Given the description of an element on the screen output the (x, y) to click on. 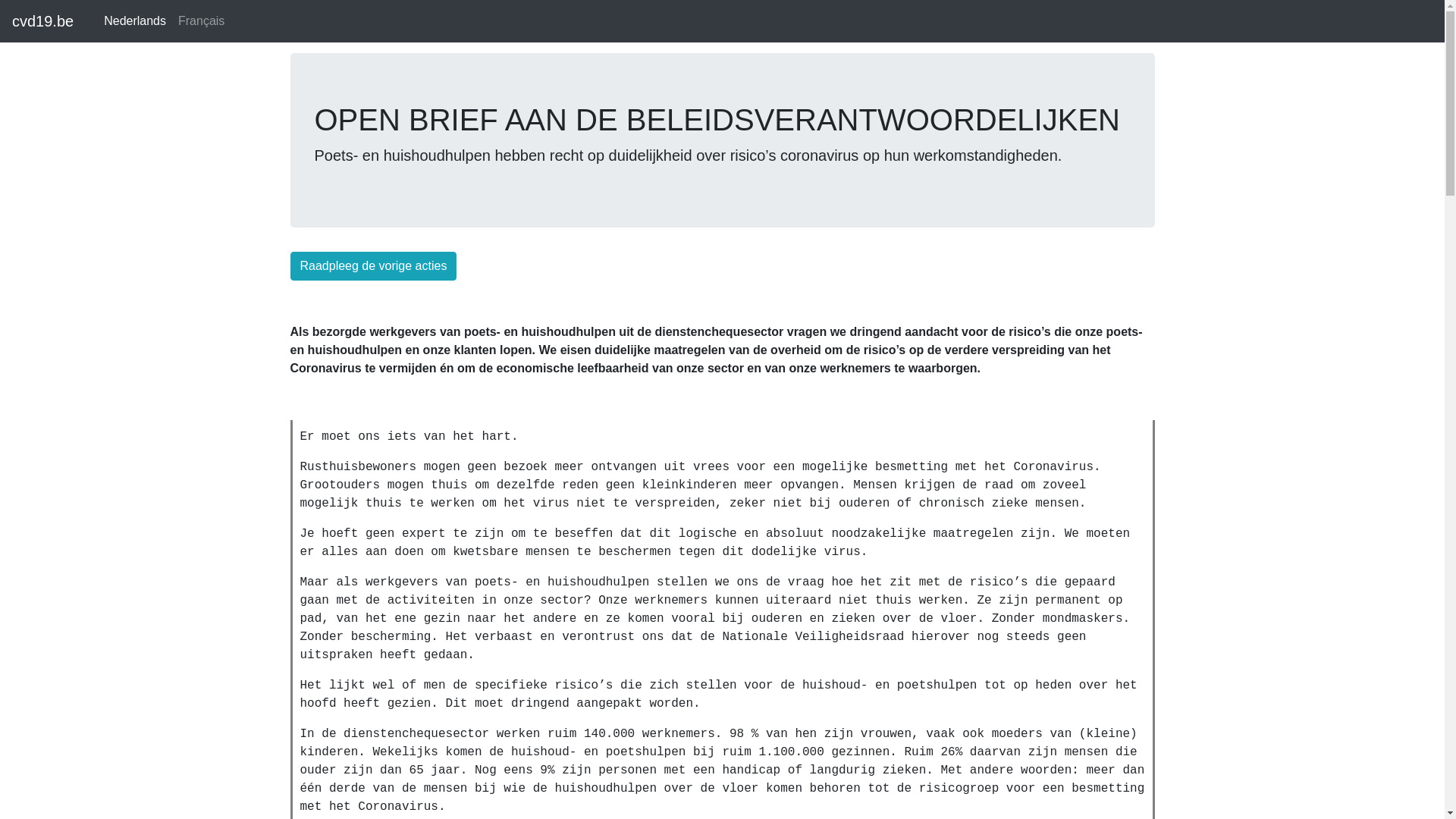
Nederlands Element type: text (134, 21)
cvd19.be Element type: text (42, 21)
Raadpleeg de vorige acties Element type: text (372, 265)
